Given the description of an element on the screen output the (x, y) to click on. 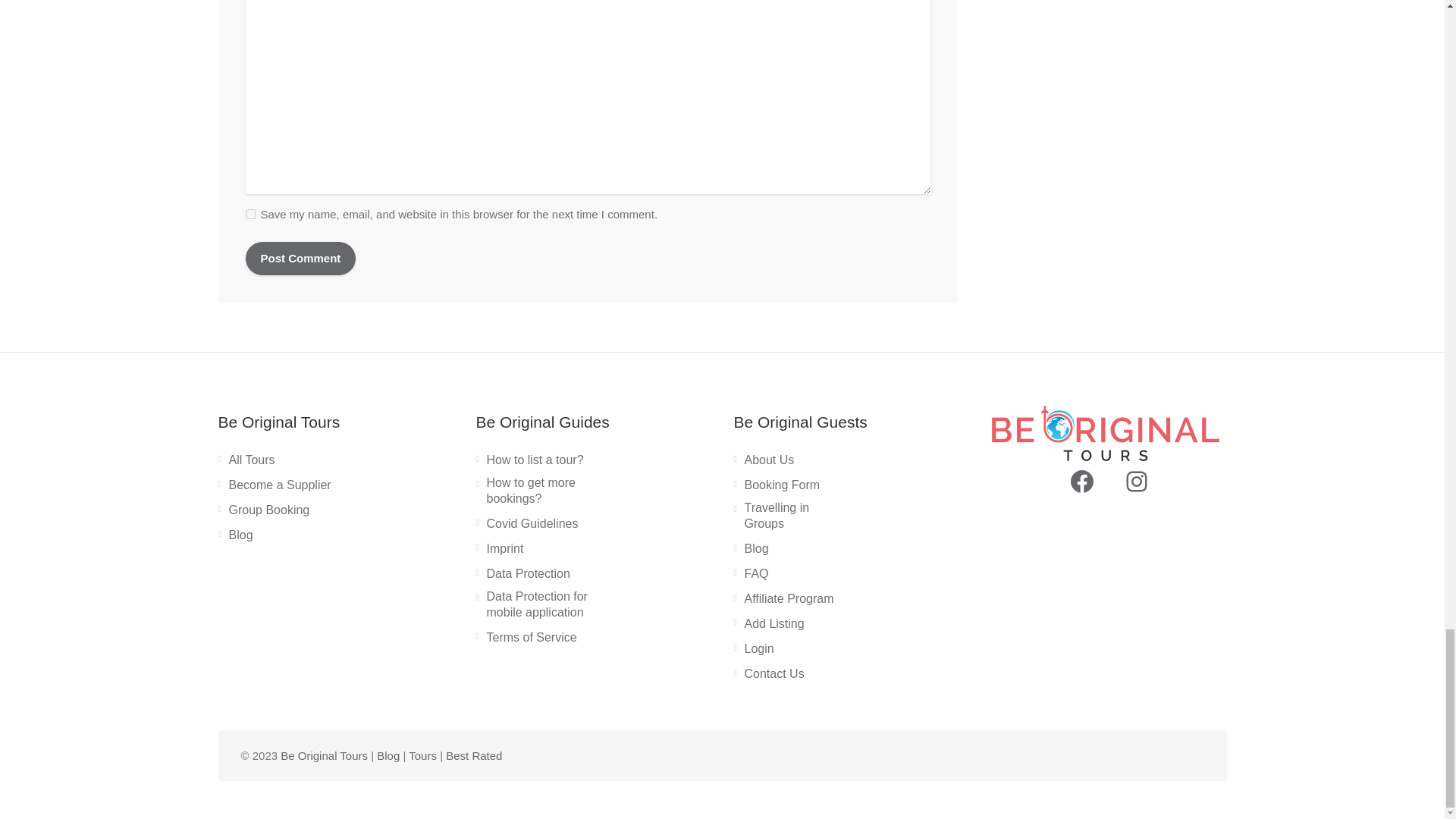
How to list a tour? (529, 463)
Imprint (500, 551)
Covid Guidelines (527, 526)
Post Comment (301, 258)
Group Booking (264, 513)
All Tours (246, 463)
Become a Supplier (274, 487)
Post Comment (301, 258)
How to get more bookings? (535, 494)
yes (251, 214)
Blog (235, 538)
Data Protection (523, 576)
